Given the description of an element on the screen output the (x, y) to click on. 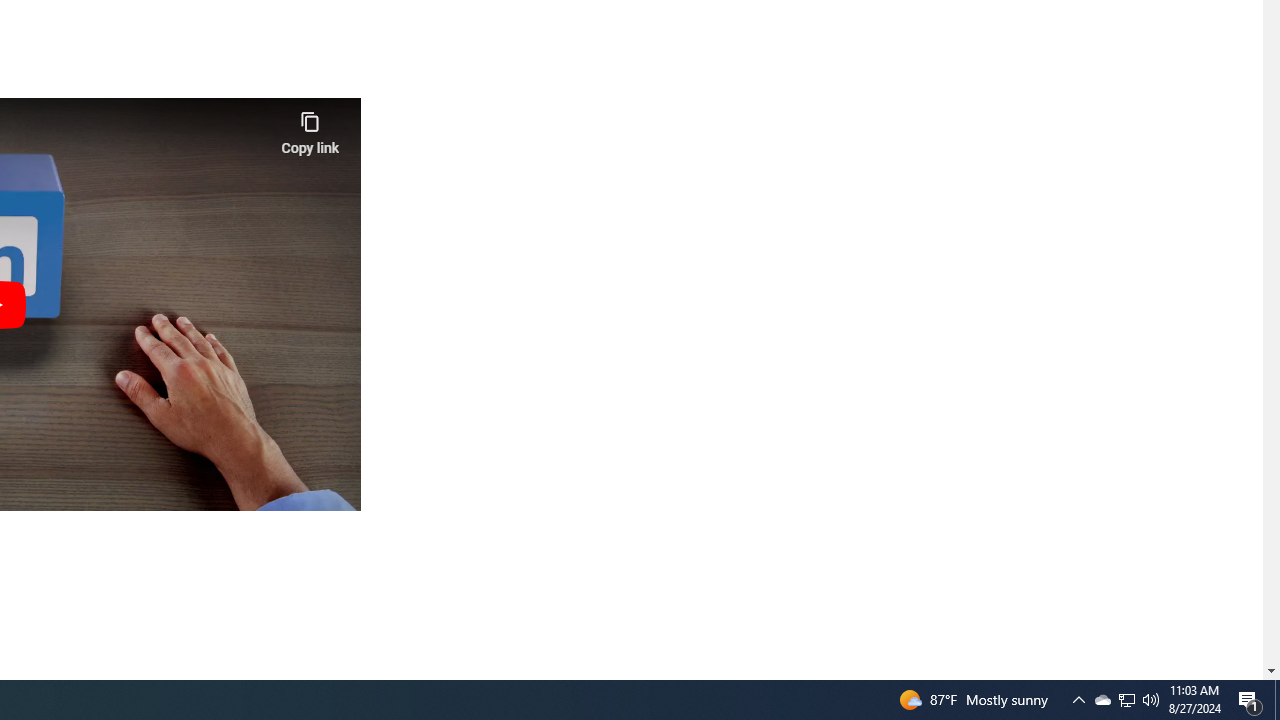
Copy link (310, 128)
